Given the description of an element on the screen output the (x, y) to click on. 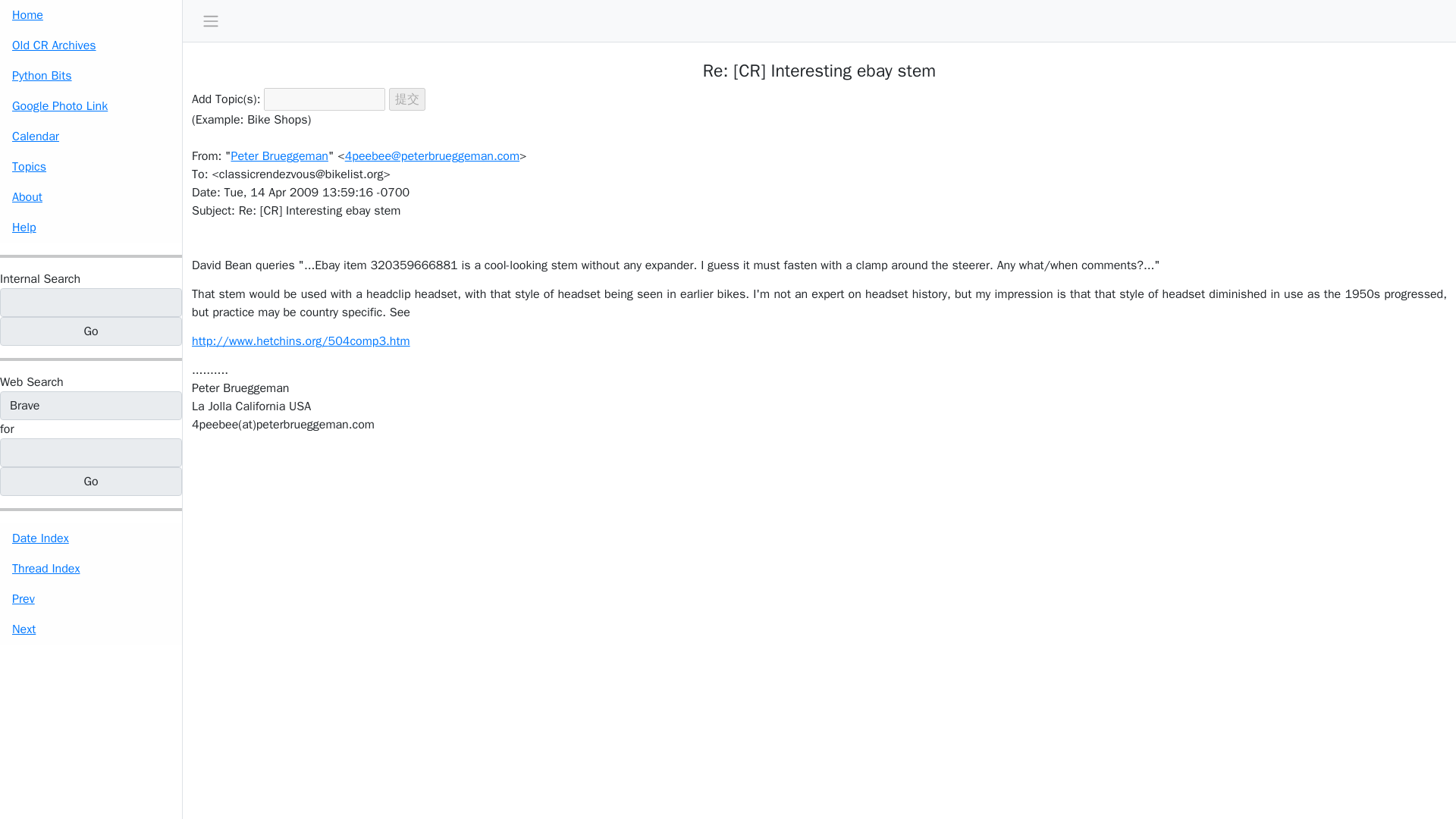
Prev (91, 598)
Topics (91, 166)
Next (91, 629)
Enter a word or phrase to search the archive. (40, 279)
Home (91, 15)
Help (91, 227)
Go (91, 481)
Google Photo Link (91, 105)
Calendar (91, 136)
Date Index (91, 538)
Old CR Archives (91, 45)
Select your preferred search engine and enter a search term. (32, 382)
Go (91, 330)
Python Bits (91, 75)
Go (91, 330)
